Given the description of an element on the screen output the (x, y) to click on. 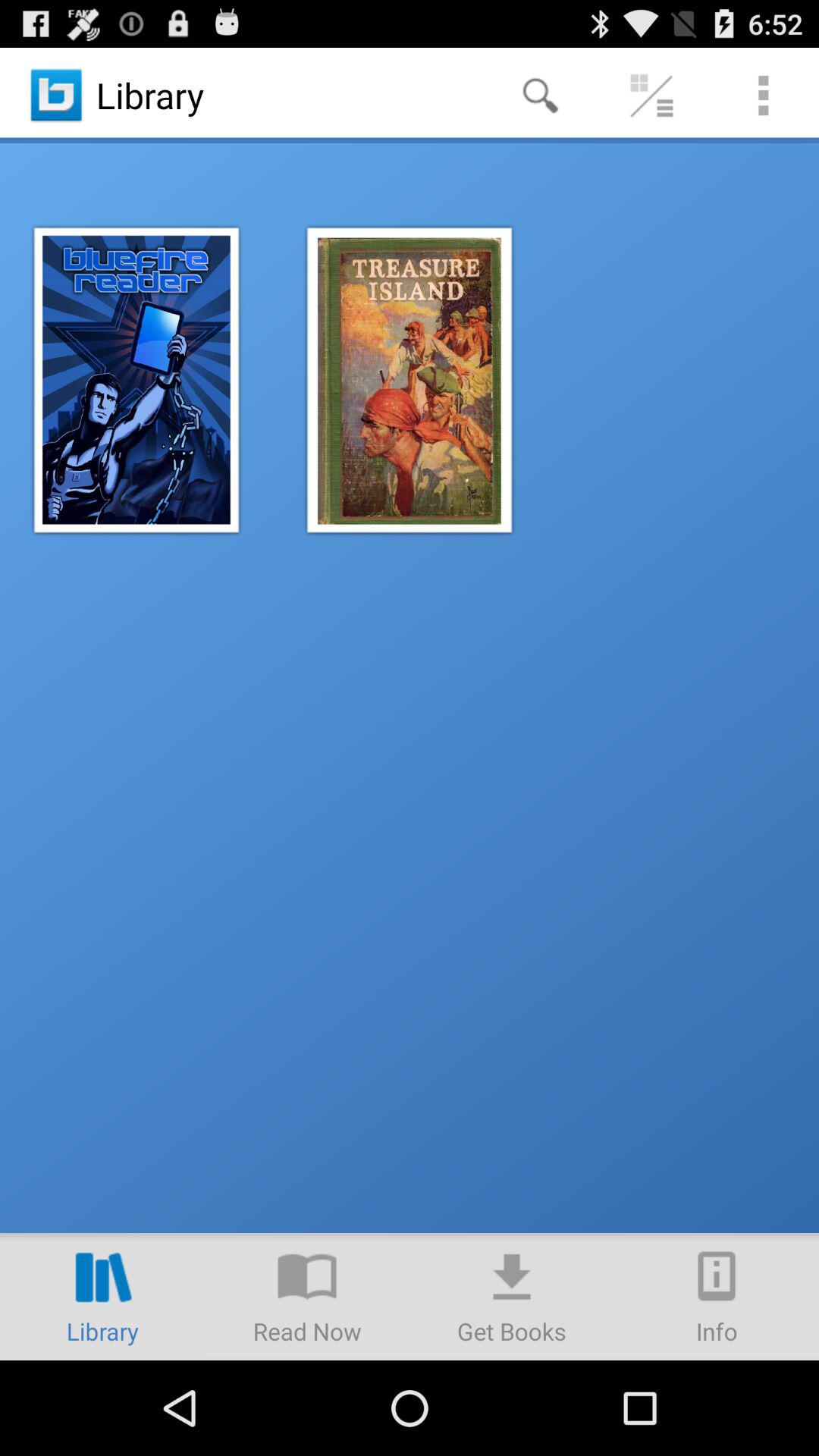
read news (306, 1296)
